Given the description of an element on the screen output the (x, y) to click on. 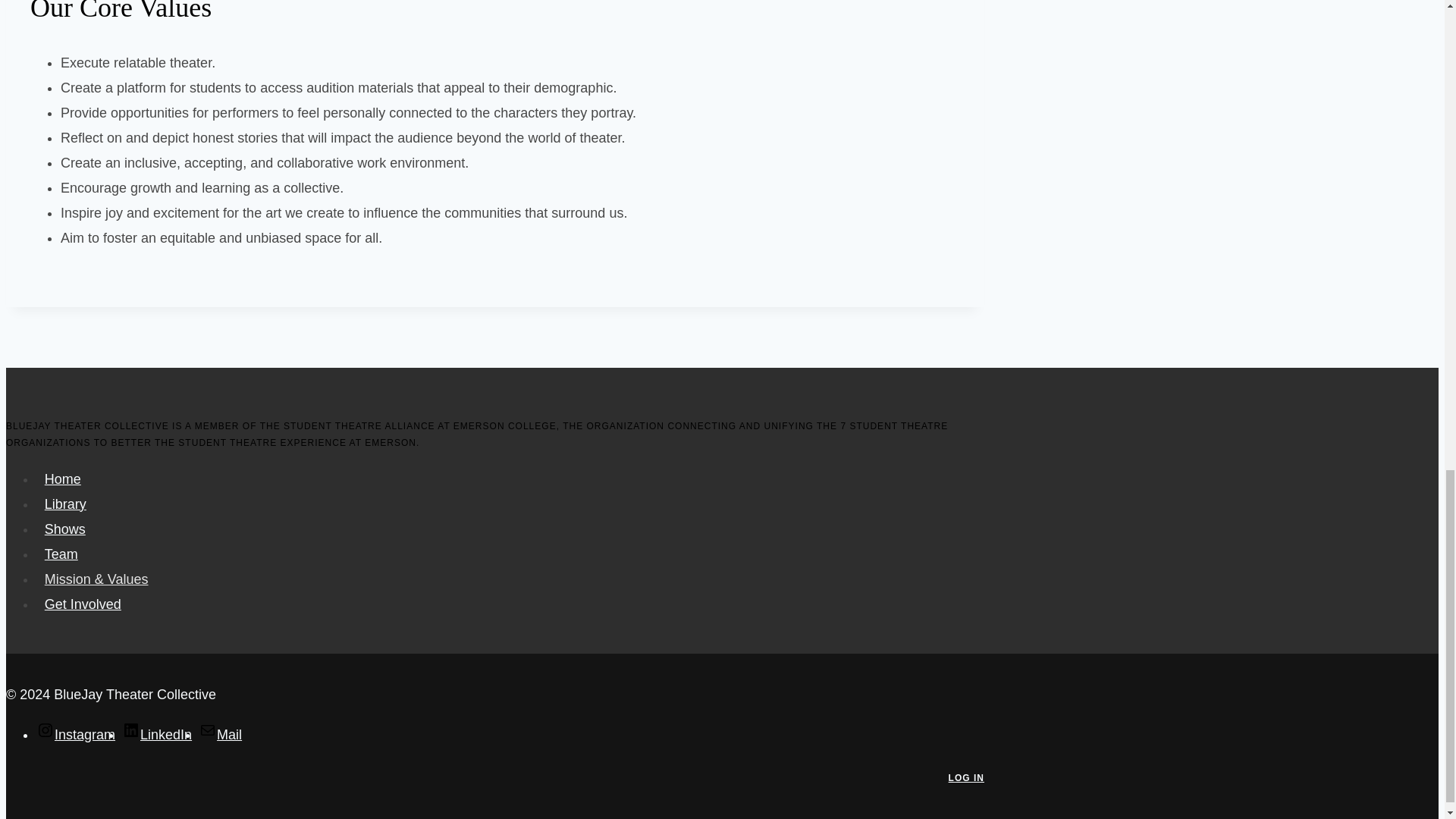
Get Involved (82, 604)
Instagram (75, 734)
Home (62, 479)
Team (60, 554)
LOG IN (966, 777)
LinkedIn (157, 734)
Library (65, 504)
Mail (219, 734)
Shows (65, 529)
